Given the description of an element on the screen output the (x, y) to click on. 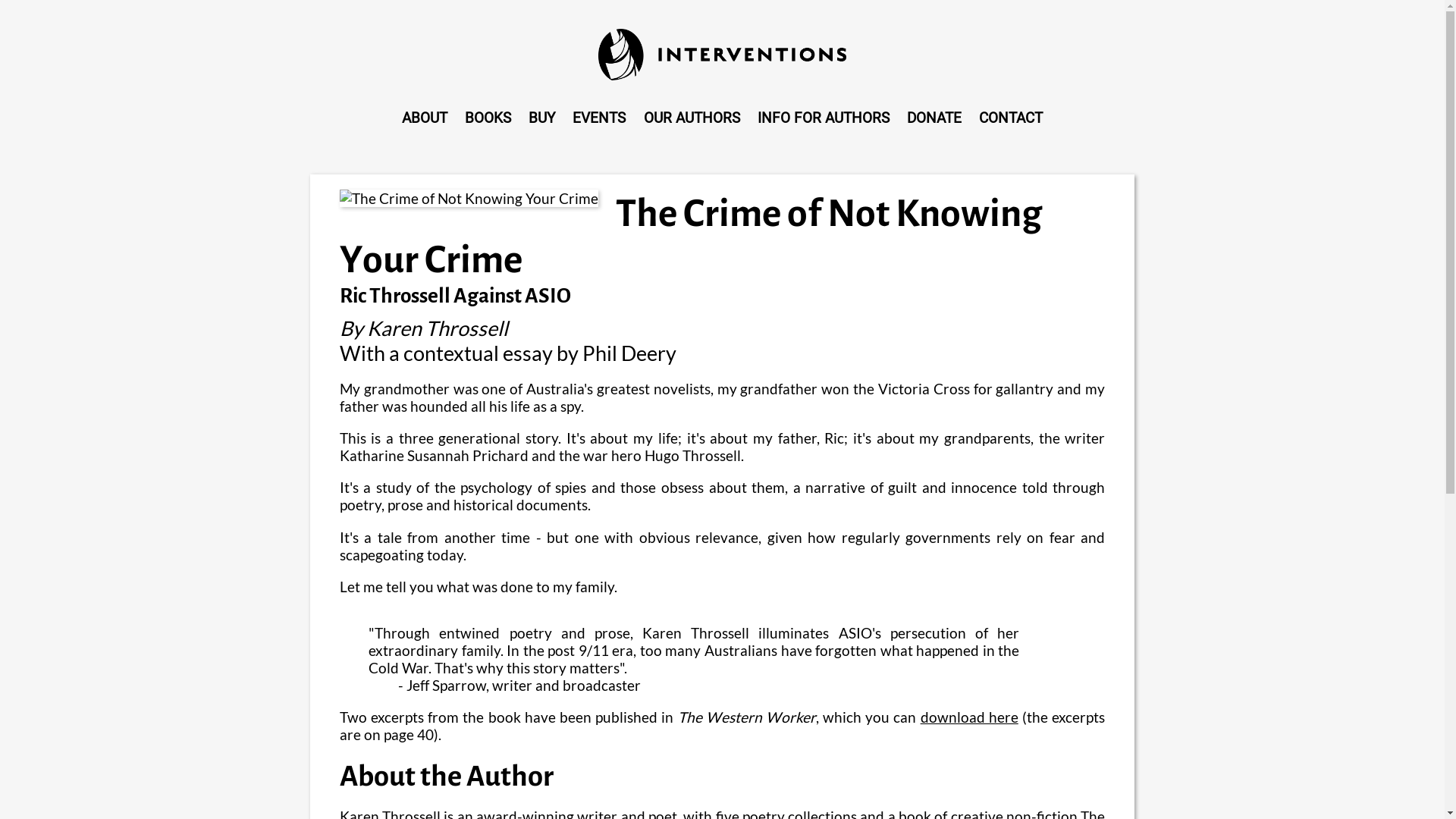
OUR AUTHORS Element type: text (691, 117)
BUY Element type: text (542, 117)
DONATE Element type: text (933, 117)
BOOKS Element type: text (488, 117)
INFO FOR AUTHORS Element type: text (822, 117)
CONTACT Element type: text (1010, 117)
ABOUT Element type: text (424, 117)
EVENTS Element type: text (599, 117)
download here Element type: text (969, 716)
